Given the description of an element on the screen output the (x, y) to click on. 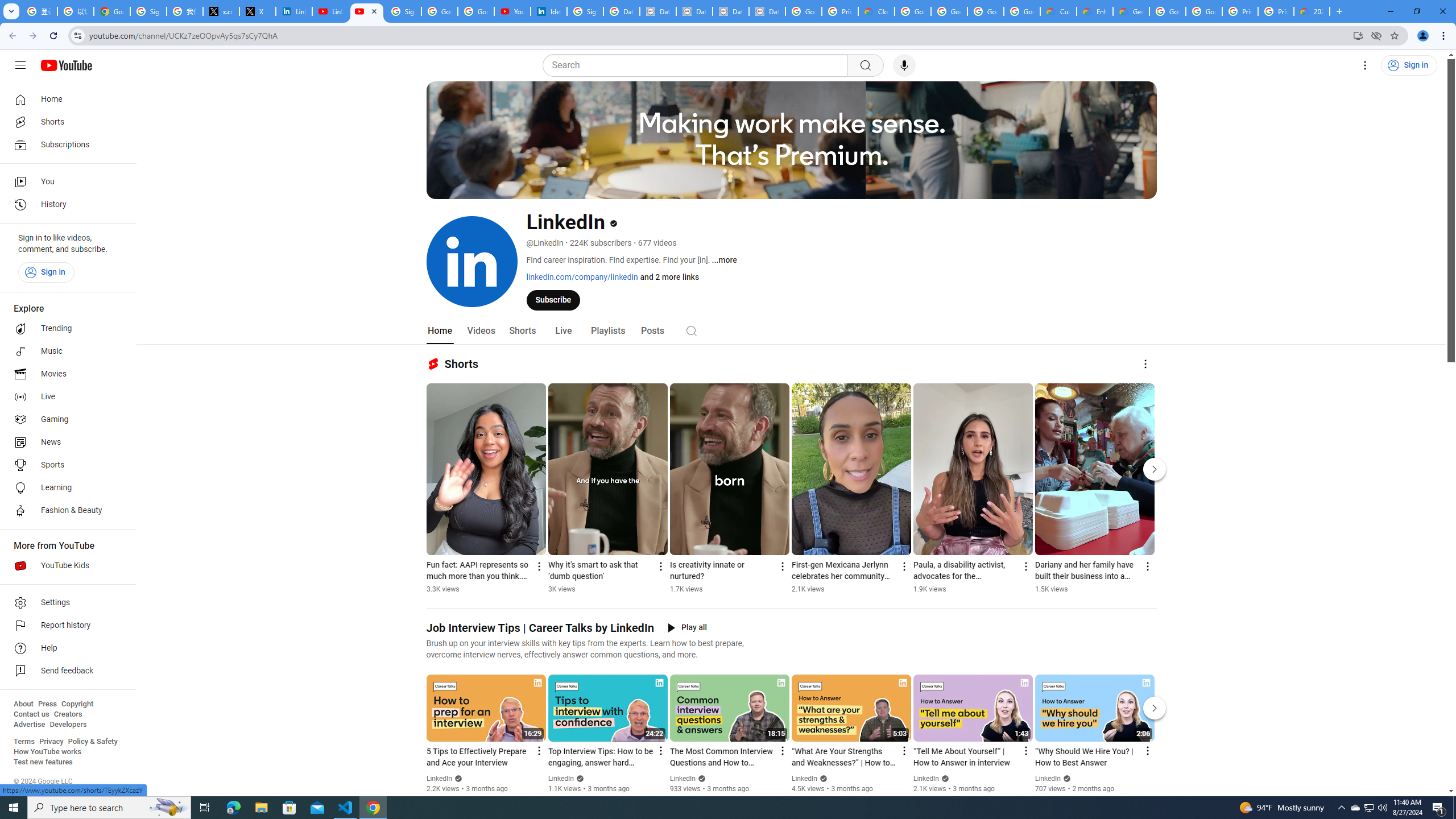
How YouTube works (47, 751)
Policy & Safety (91, 741)
